Given the description of an element on the screen output the (x, y) to click on. 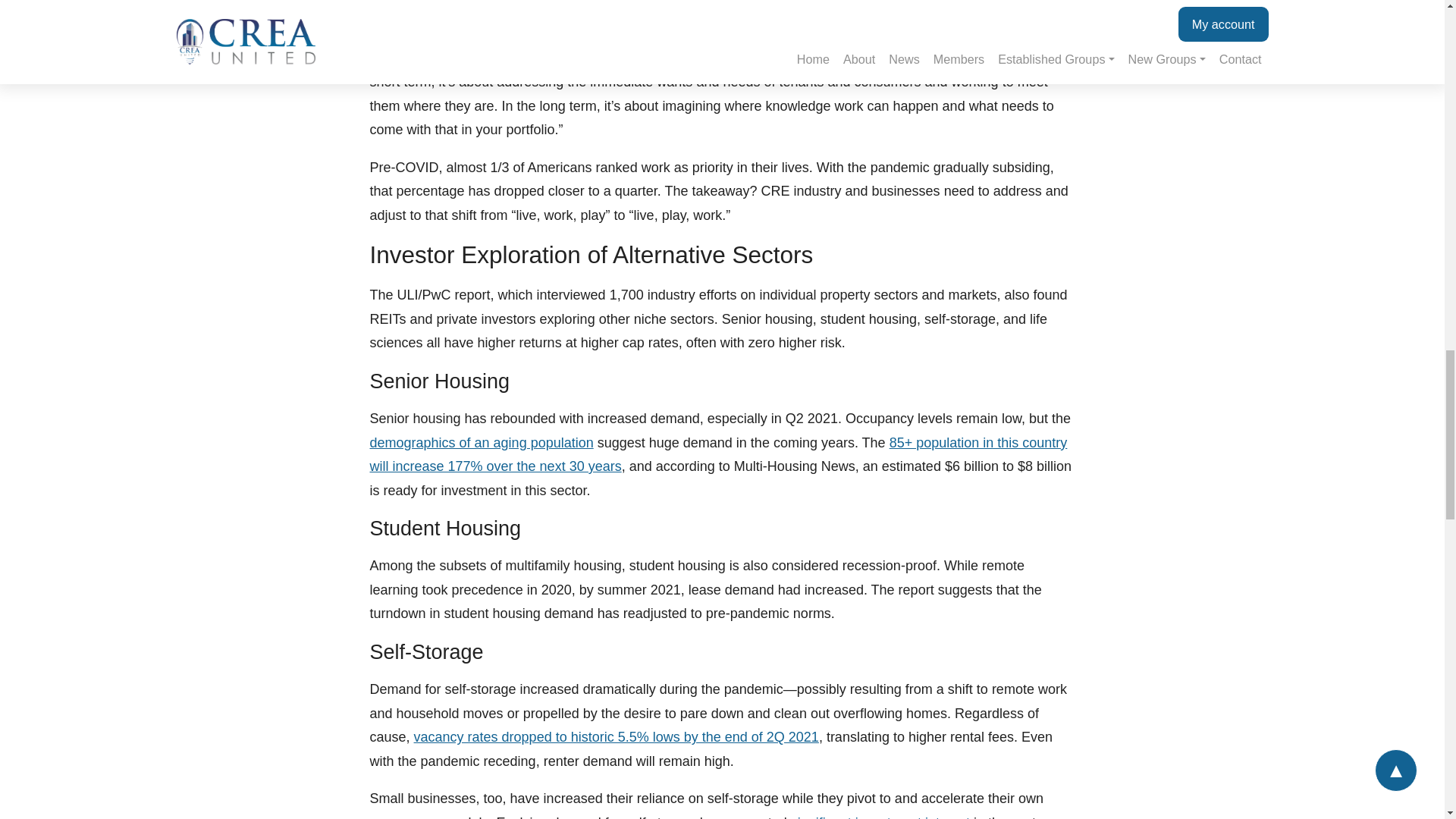
demographics of an aging population (481, 442)
significant investment interest (879, 816)
